Given the description of an element on the screen output the (x, y) to click on. 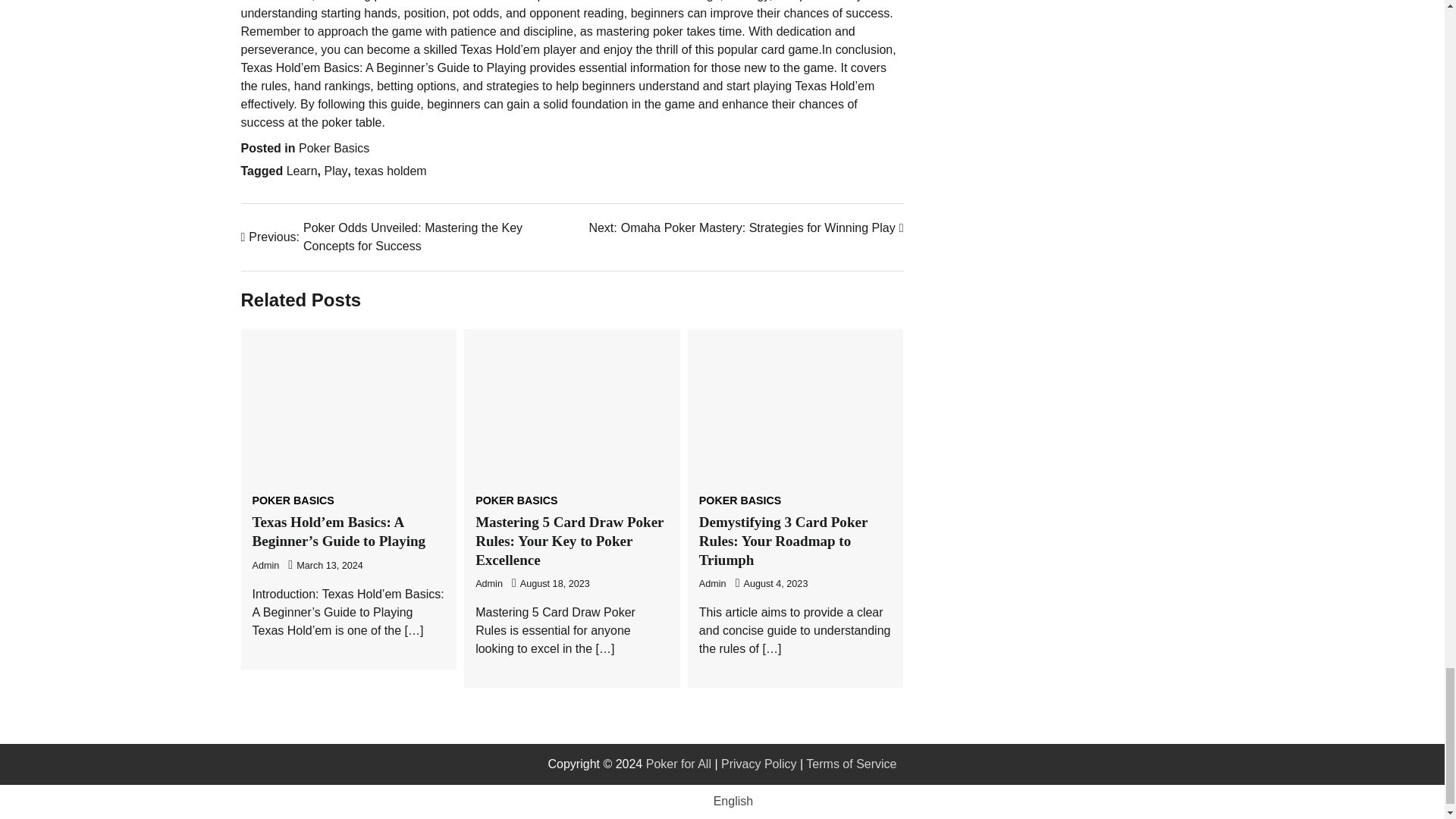
Learn (301, 170)
Poker Basics (333, 147)
POKER BASICS (739, 500)
Admin (489, 583)
Admin (265, 565)
POKER BASICS (745, 228)
texas holdem (516, 500)
